Given the description of an element on the screen output the (x, y) to click on. 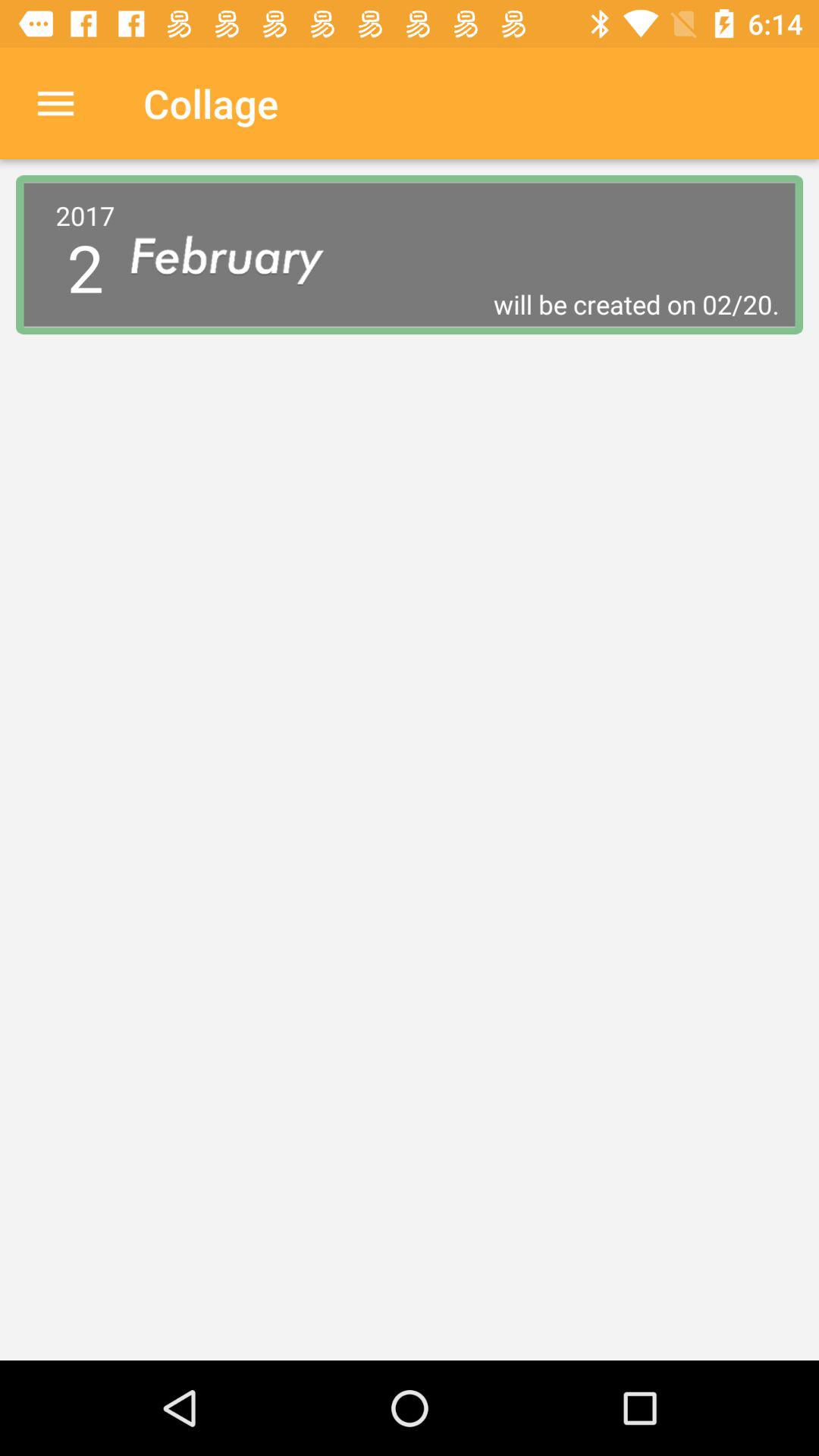
launch the item next to 2017
2 (454, 303)
